Given the description of an element on the screen output the (x, y) to click on. 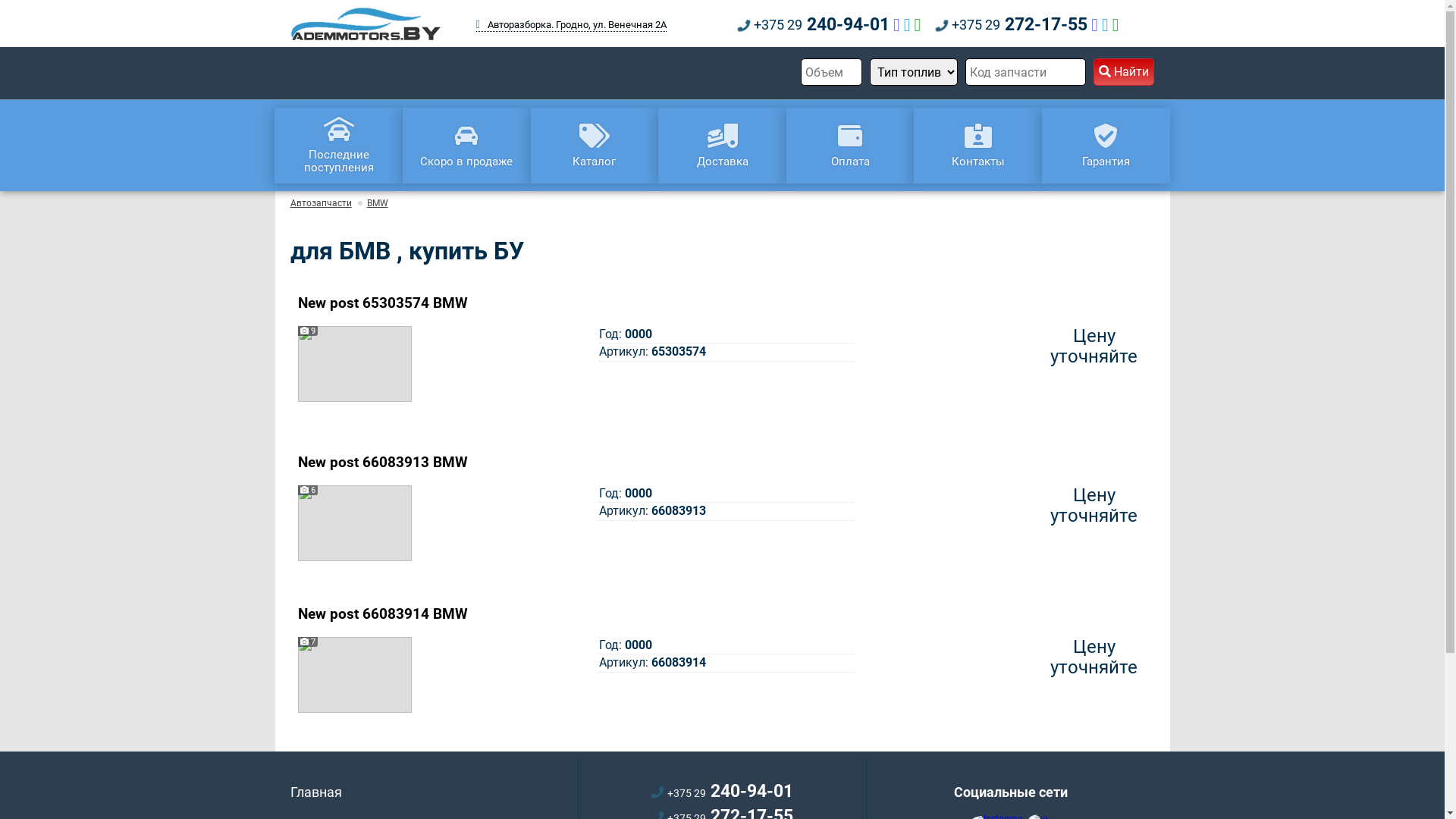
BMW Element type: text (377, 202)
6 Element type: text (354, 523)
+375 29
 272-17-55 Element type: text (1011, 24)
+375 29 240-94-01 Element type: text (722, 791)
New post 65303574 BMW Element type: text (382, 302)
New post 66083914 BMW Element type: text (382, 613)
+375 29
 240-94-01 Element type: text (813, 24)
New post 66083913 BMW Element type: text (382, 462)
7 Element type: text (354, 674)
9 Element type: text (354, 363)
